Given the description of an element on the screen output the (x, y) to click on. 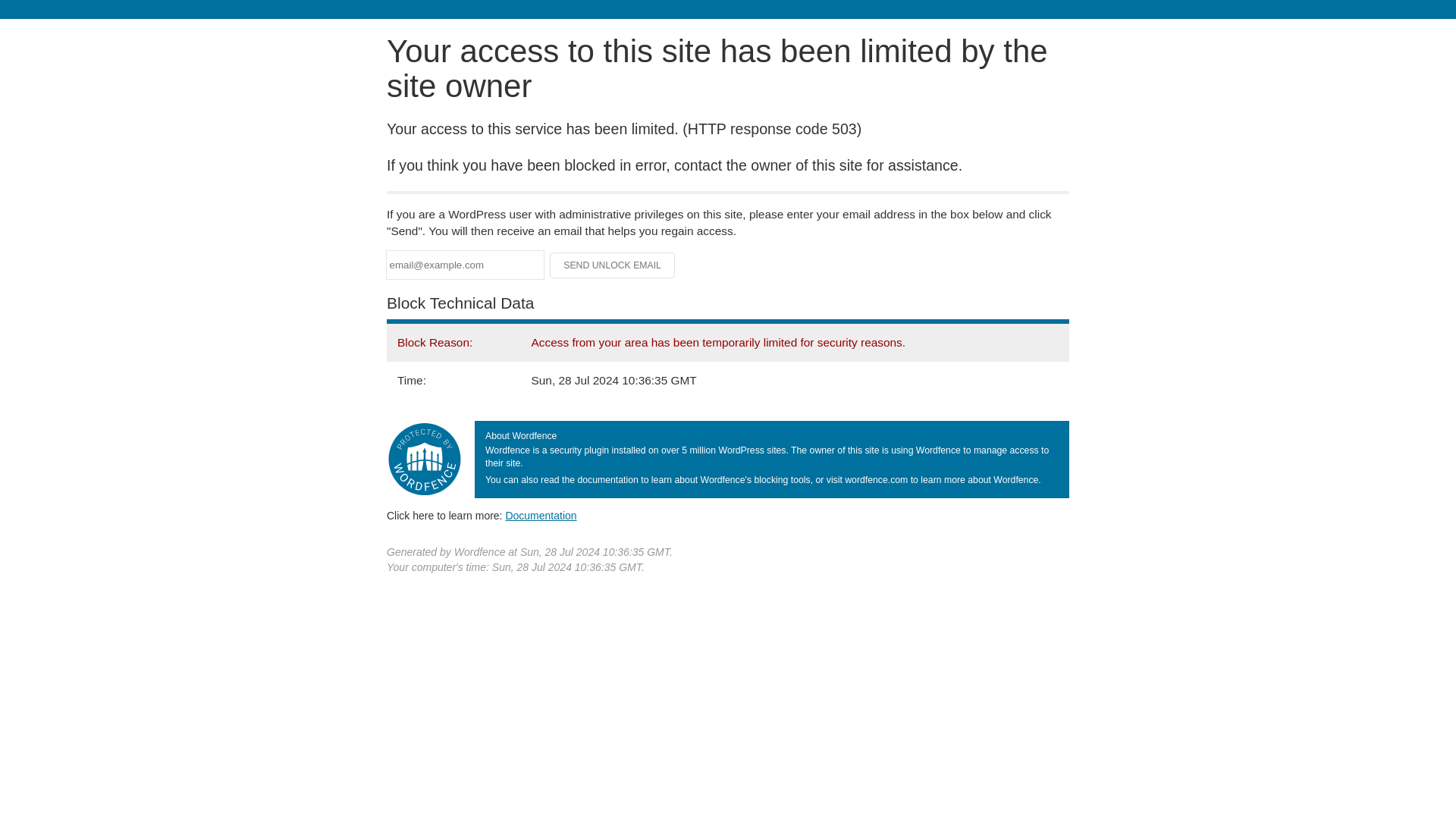
Send Unlock Email (612, 265)
Send Unlock Email (612, 265)
Documentation (540, 515)
